Given the description of an element on the screen output the (x, y) to click on. 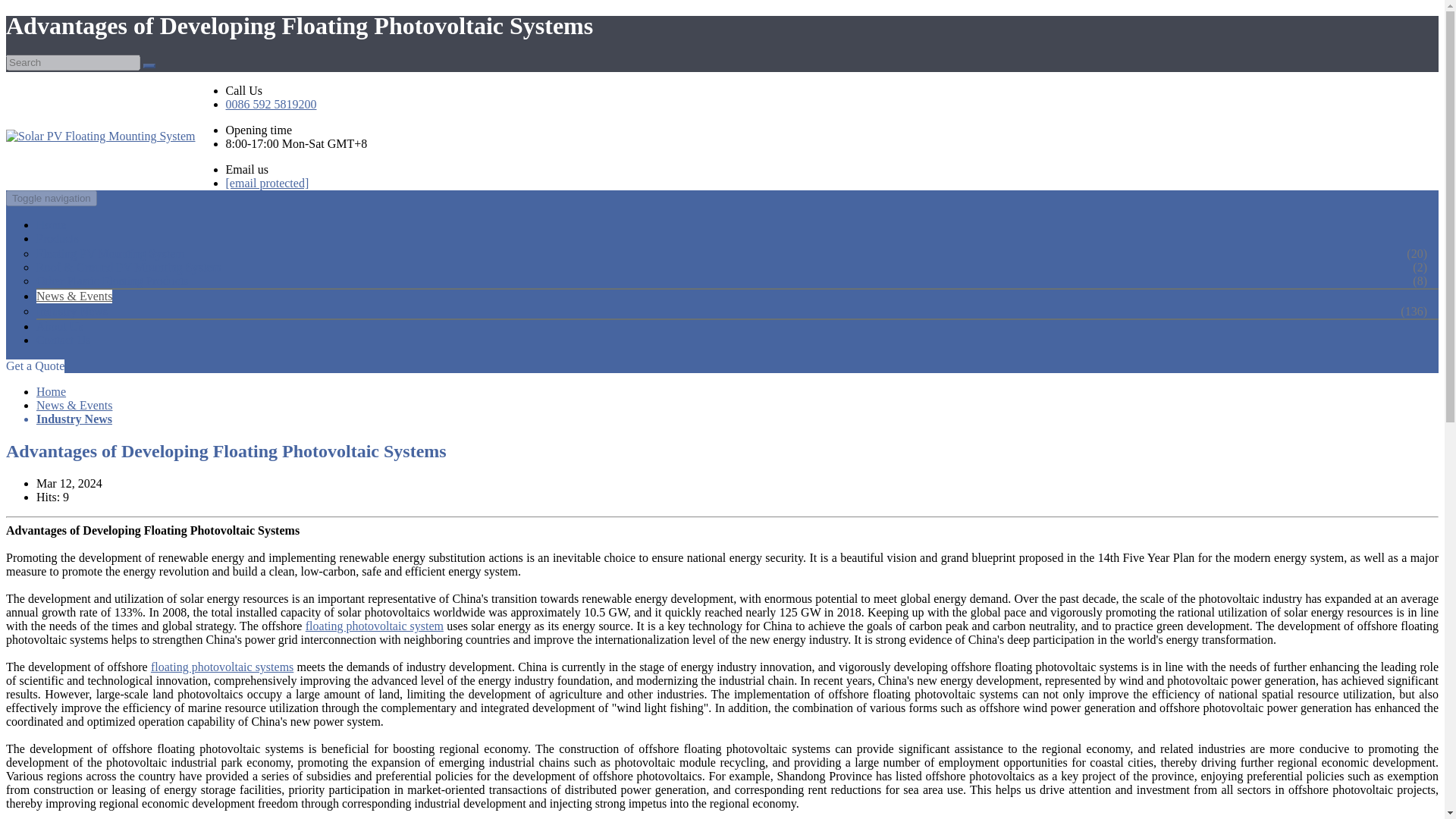
Get a Quote (34, 366)
Contact Us (63, 340)
floating photovoltaic systems (222, 667)
Products (57, 238)
Toggle navigation (51, 198)
Floating PV Mounting System (129, 254)
Floating PV Mounting System (129, 254)
Industry News (90, 311)
Get a Quote (34, 366)
Contact Us (63, 340)
Other Plastic Floating Products (130, 281)
Home (50, 391)
Industry News (74, 418)
Industry News (74, 418)
0086 592 5819200 (271, 104)
